Given the description of an element on the screen output the (x, y) to click on. 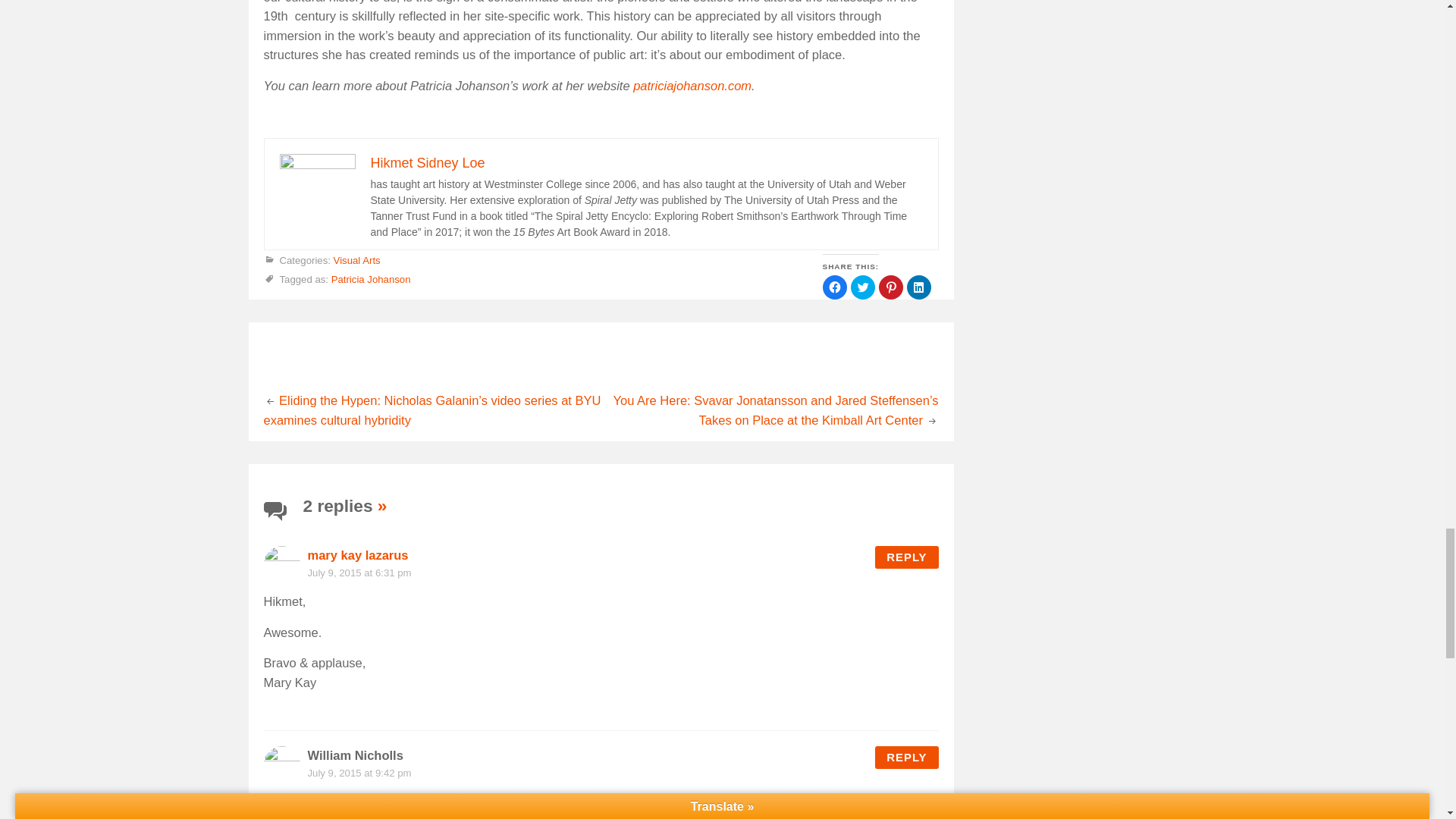
Click to share on LinkedIn (919, 287)
Click to share on Twitter (862, 287)
Click to share on Pinterest (889, 287)
Click to share on Facebook (833, 287)
